Given the description of an element on the screen output the (x, y) to click on. 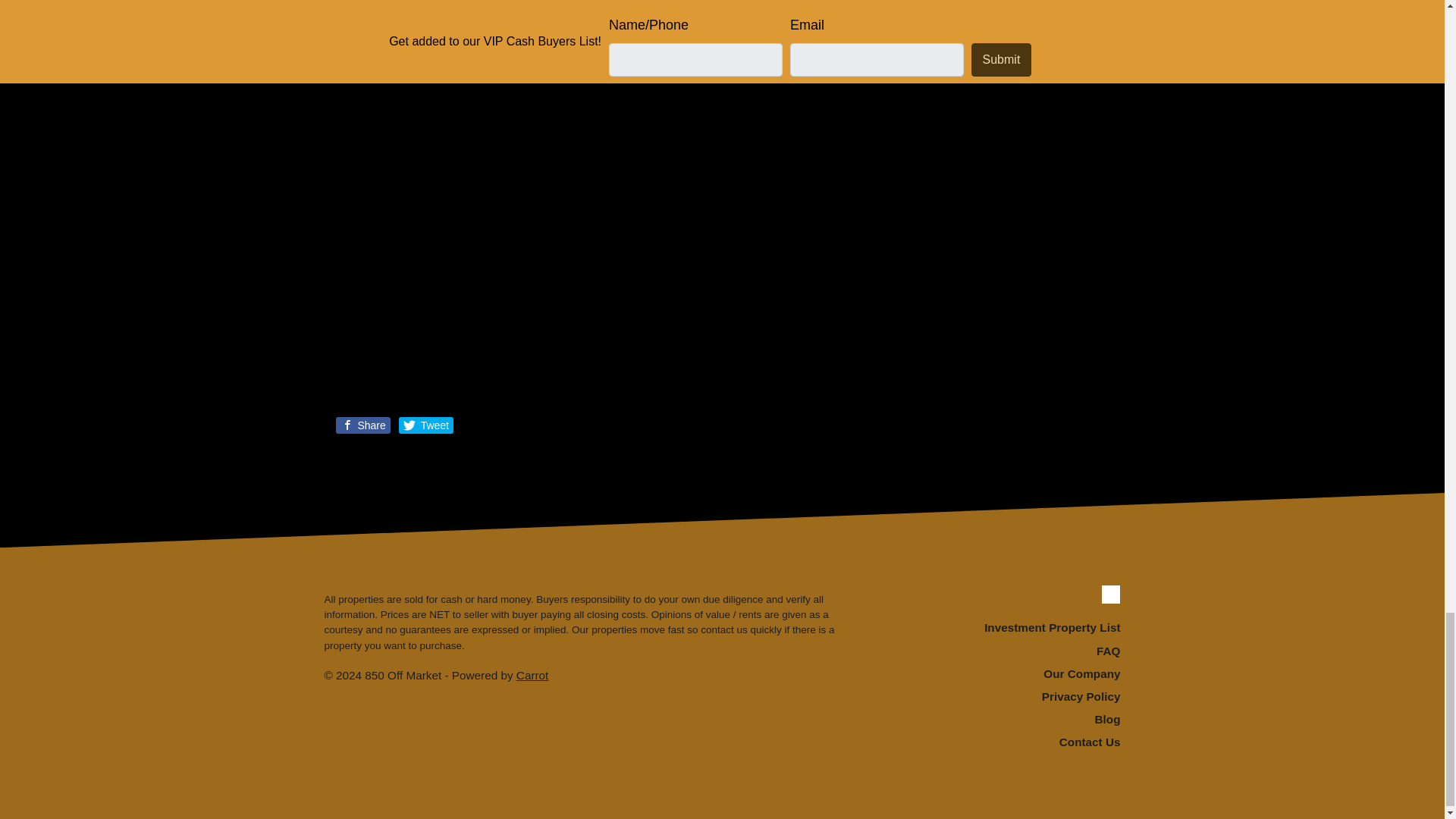
Map (362, 32)
